Given the description of an element on the screen output the (x, y) to click on. 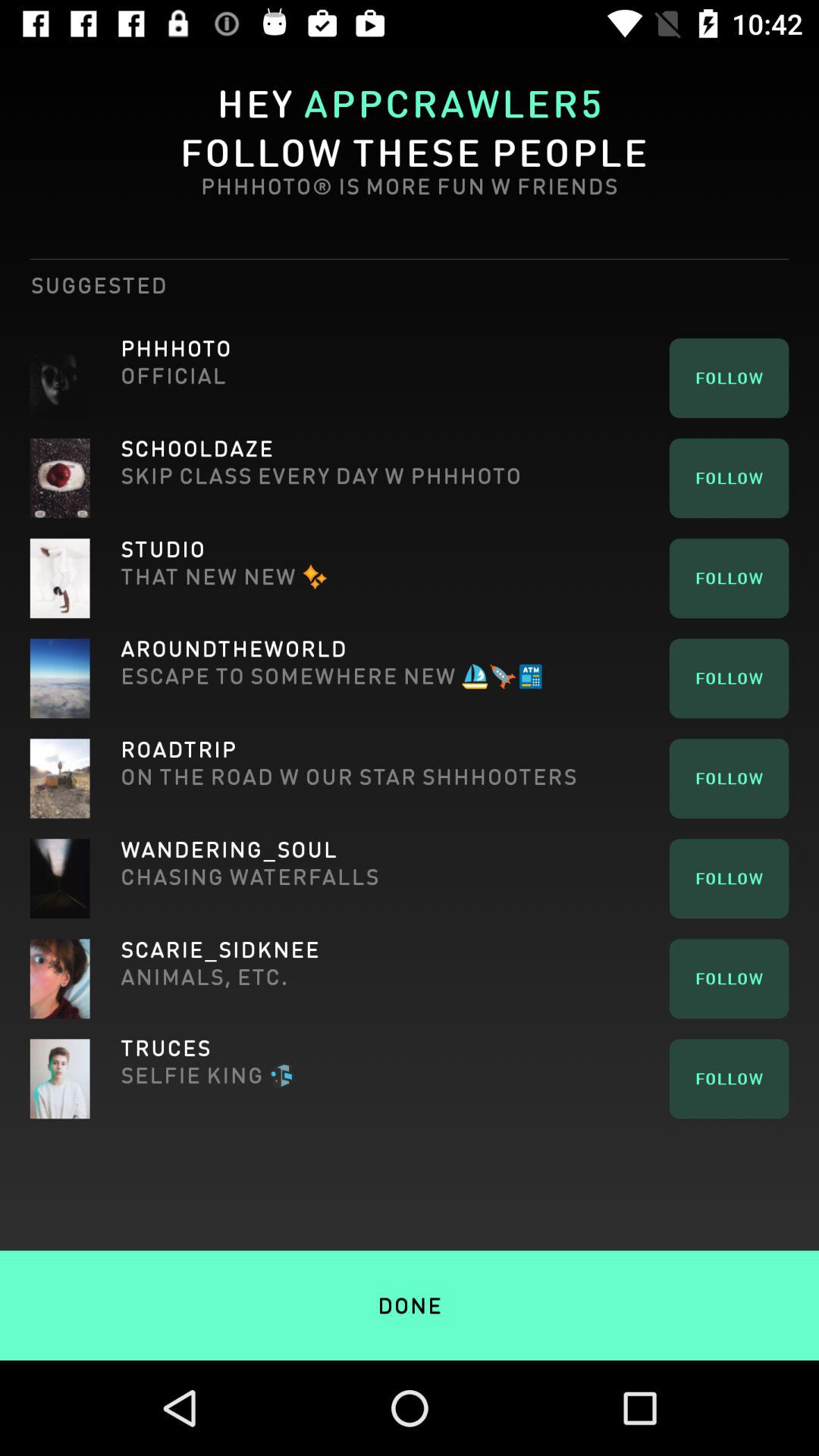
finish following people (409, 1272)
